Given the description of an element on the screen output the (x, y) to click on. 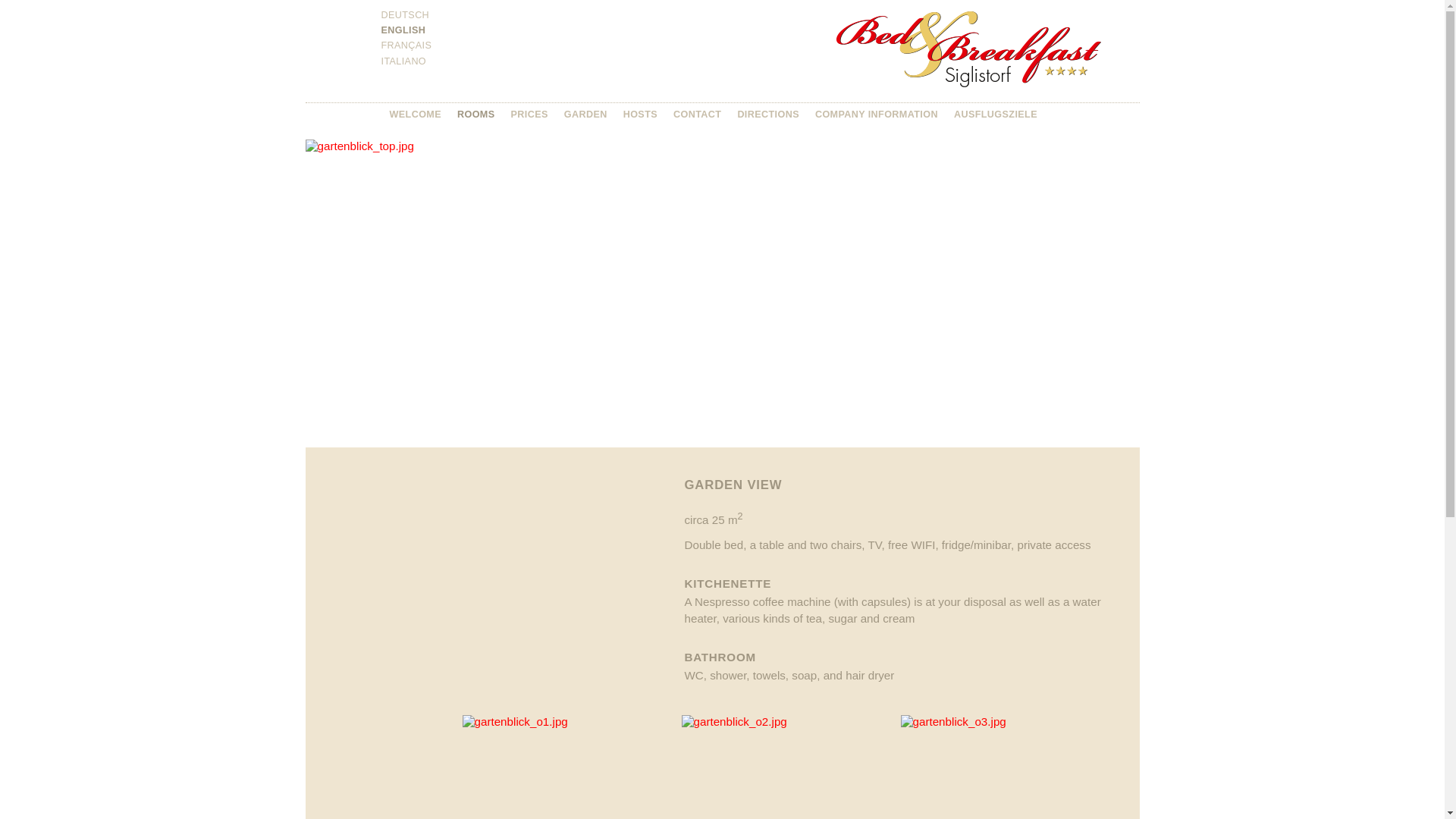
COMPANY INFORMATION Element type: text (876, 114)
ENGLISH Element type: text (402, 30)
DEUTSCH Element type: text (404, 14)
CONTACT Element type: text (696, 114)
HOSTS Element type: text (640, 114)
AUSFLUGSZIELE Element type: text (995, 114)
WELCOME Element type: text (415, 114)
DIRECTIONS Element type: text (767, 114)
ROOMS Element type: text (475, 114)
ITALIANO Element type: text (403, 61)
GARDEN Element type: text (585, 114)
PRICES Element type: text (529, 114)
